Given the description of an element on the screen output the (x, y) to click on. 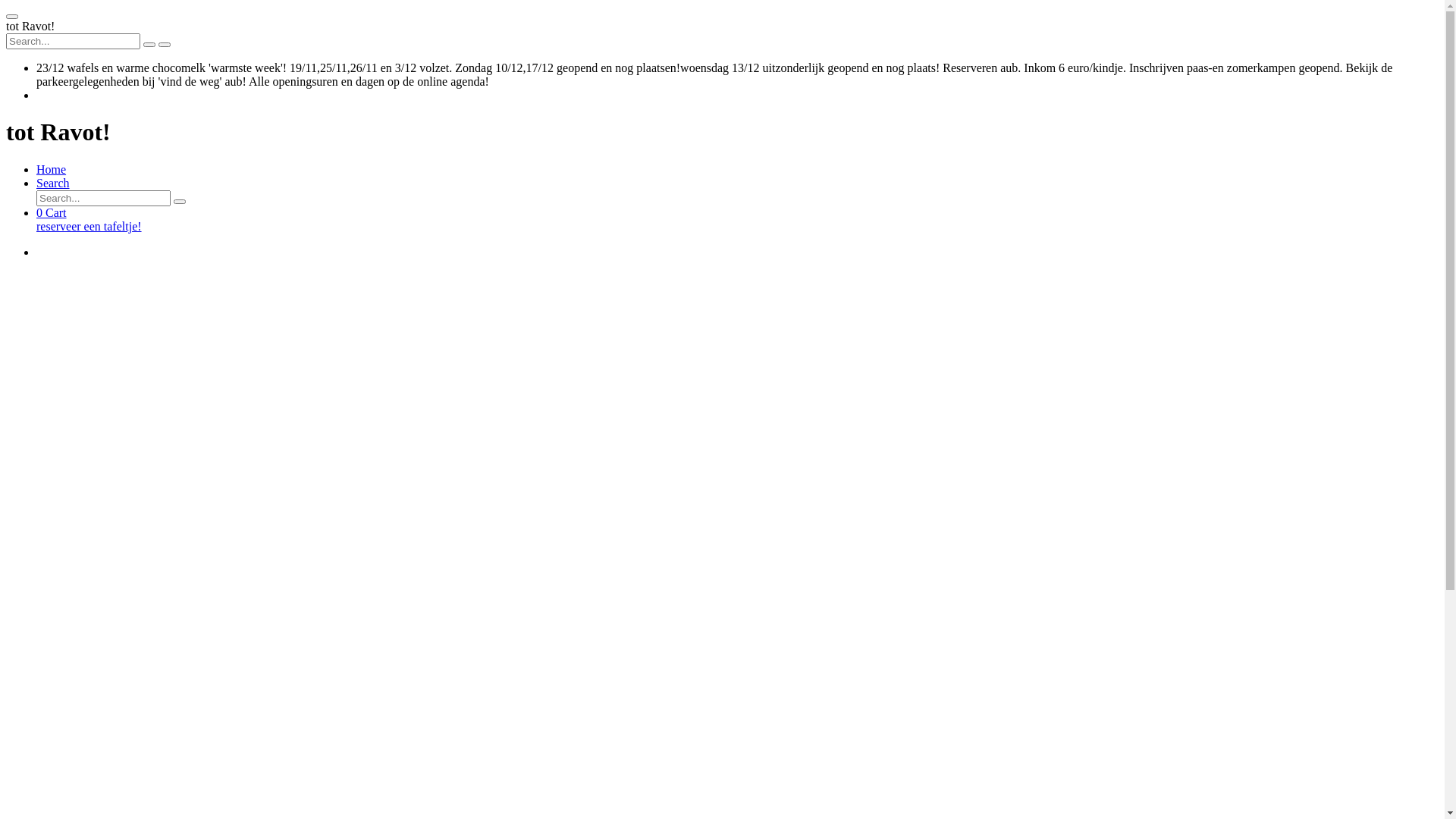
Search Element type: text (52, 182)
Home Element type: text (50, 169)
0 Cart Element type: text (51, 212)
reserveer een tafeltje! Element type: text (737, 226)
